Given the description of an element on the screen output the (x, y) to click on. 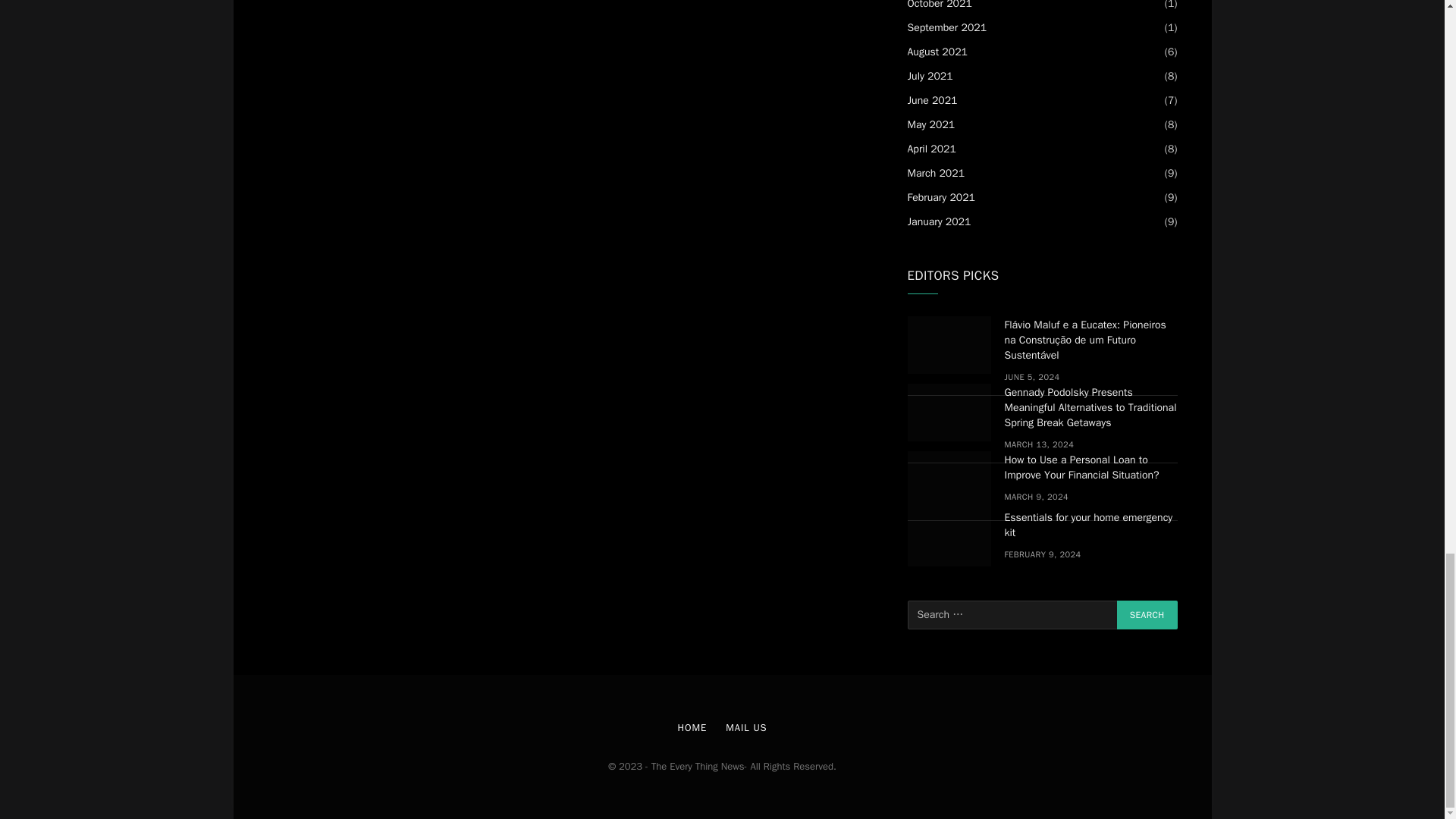
Search (1146, 614)
Search (1146, 614)
